Given the description of an element on the screen output the (x, y) to click on. 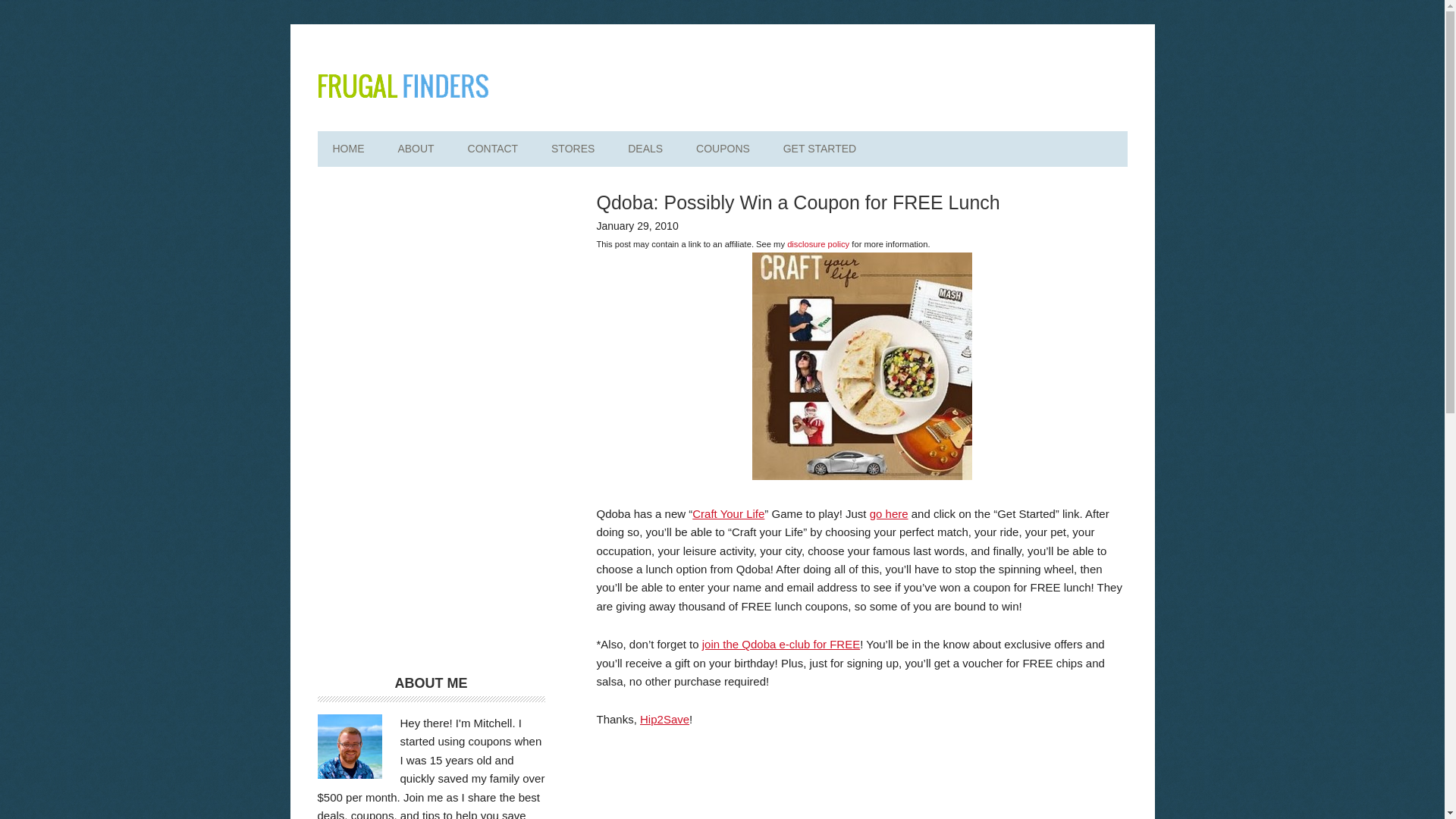
GET STARTED (819, 149)
CONTACT (493, 149)
ABOUT (414, 149)
Craft Your Life (728, 513)
go here (888, 513)
disclosure policy (817, 243)
qdobaiwg (862, 365)
join the Qdoba e-club for FREE (780, 644)
Frugal Finders (402, 84)
HOME (347, 149)
Affiliate Link Disclosure Policy (817, 243)
Hip2Save (664, 718)
DEALS (645, 149)
COUPONS (723, 149)
STORES (572, 149)
